Given the description of an element on the screen output the (x, y) to click on. 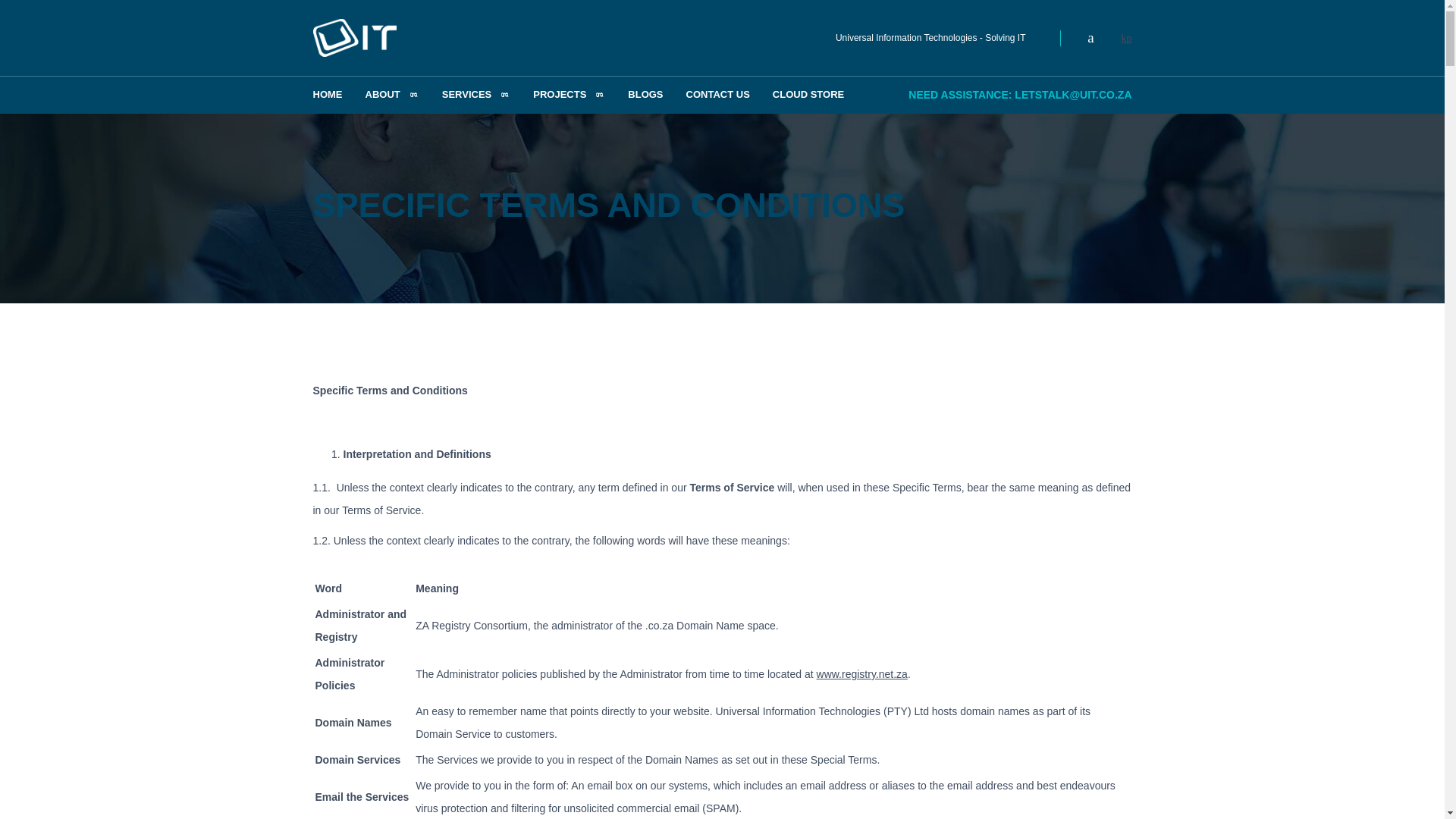
www.registry.net.za (861, 674)
Go (18, 15)
BLOGS (644, 94)
ABOUT (391, 94)
CONTACT US (718, 94)
CLOUD STORE (808, 94)
HOME (327, 94)
SERVICES (476, 94)
PROJECTS (568, 94)
